Given the description of an element on the screen output the (x, y) to click on. 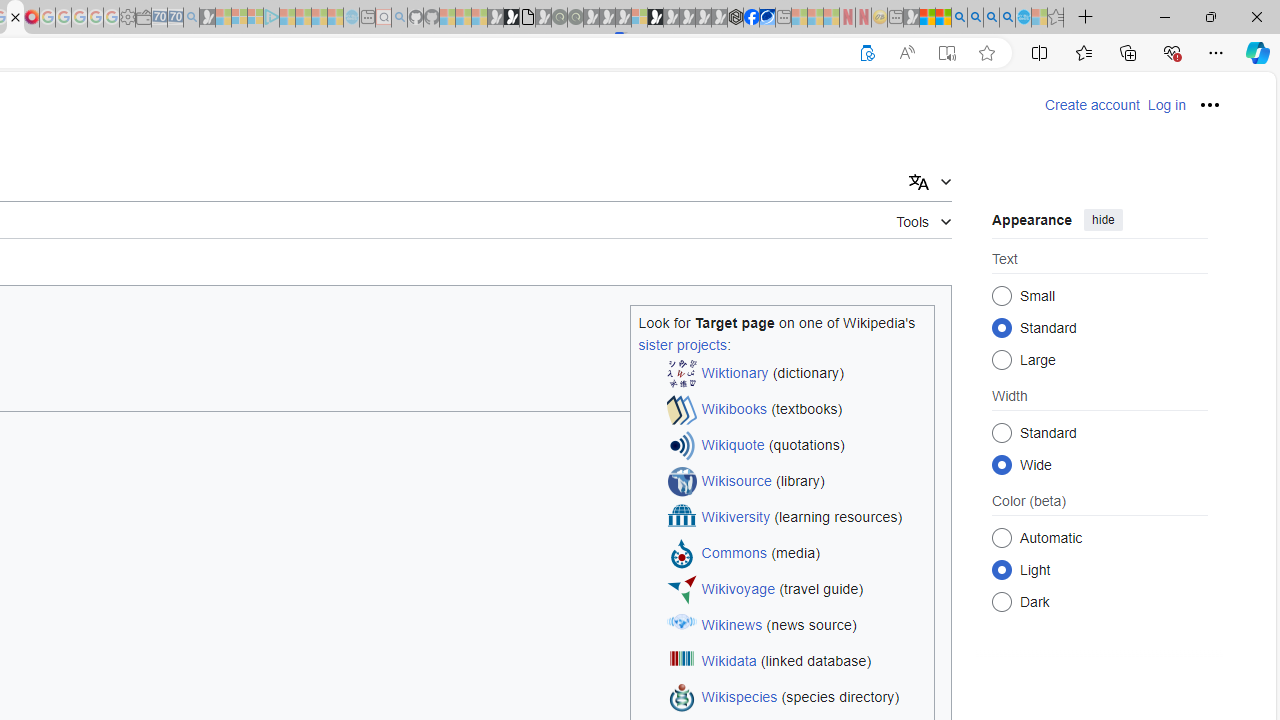
Wikinews (news source) (796, 626)
Small (1002, 295)
Wikinews (731, 625)
Nordace | Facebook (751, 17)
Commons (734, 553)
Wiktionary (735, 373)
Commons (media) (796, 554)
Play Zoo Boom in your browser | Games from Microsoft Start (511, 17)
